Given the description of an element on the screen output the (x, y) to click on. 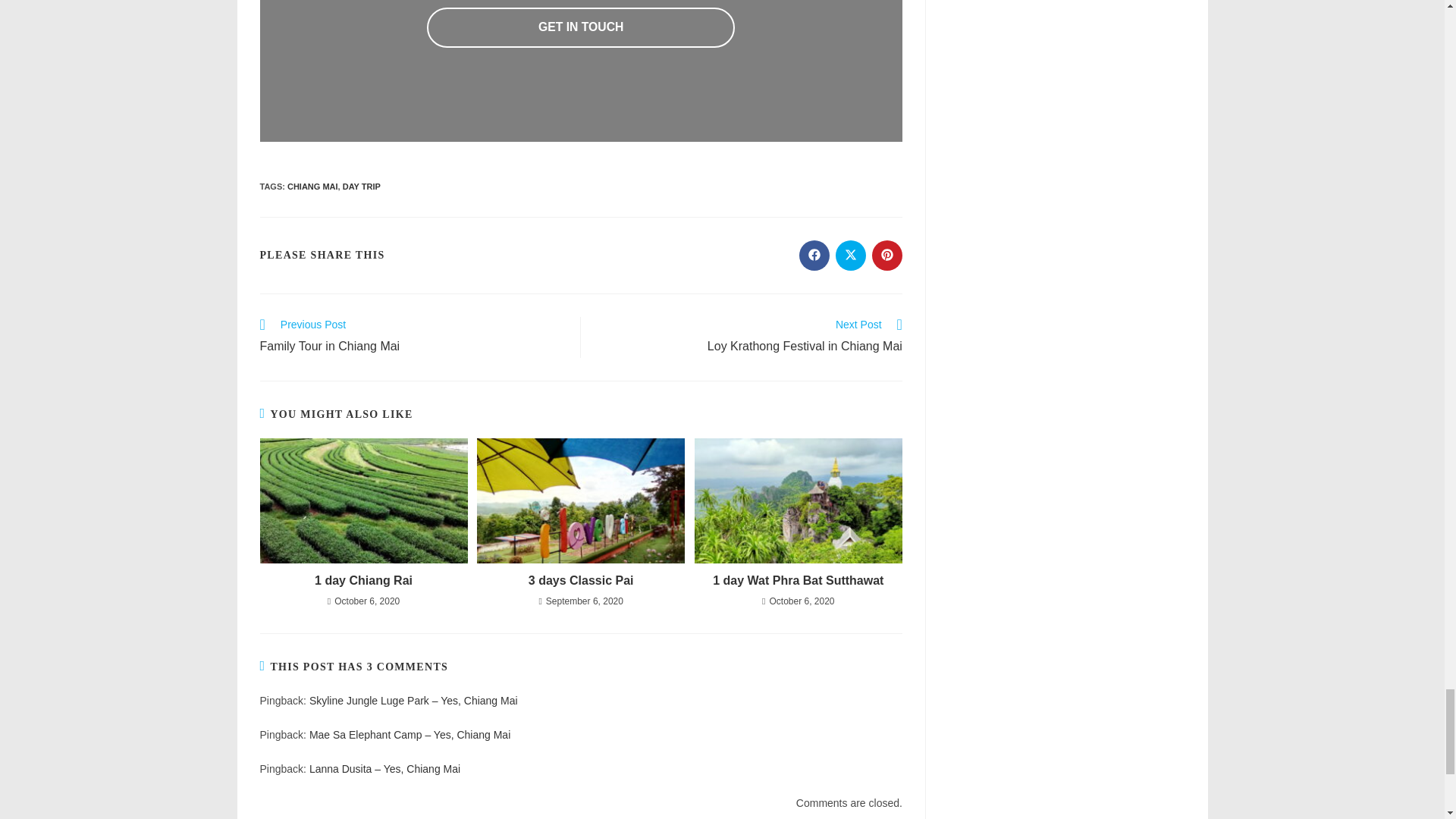
CHIANG MAI (311, 185)
Opens in a new window (814, 255)
GET IN TOUCH (580, 27)
DAY TRIP (361, 185)
